Given the description of an element on the screen output the (x, y) to click on. 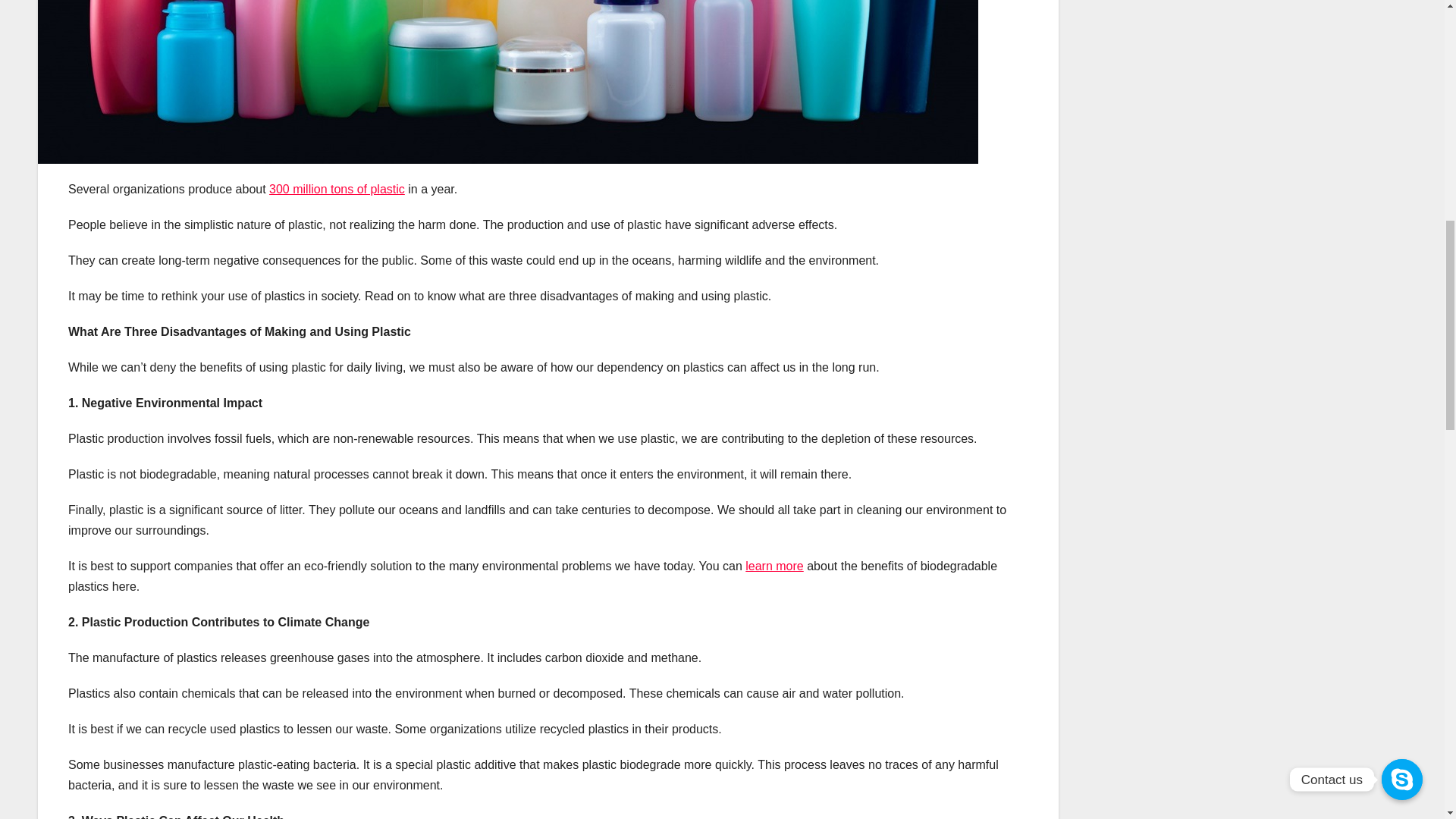
learn more (774, 565)
300 million tons of plastic (336, 188)
